Given the description of an element on the screen output the (x, y) to click on. 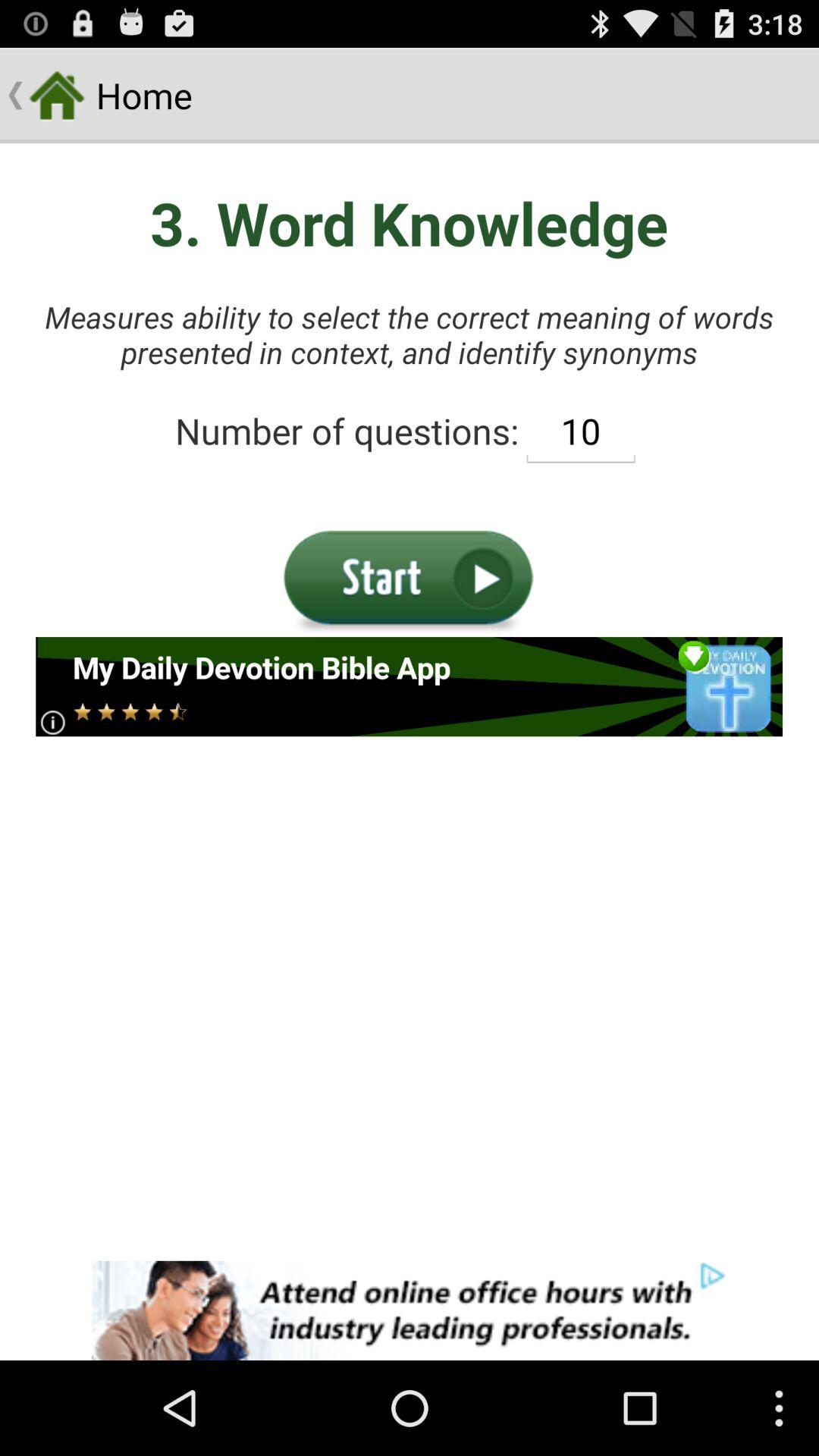
advertising (408, 686)
